Given the description of an element on the screen output the (x, y) to click on. 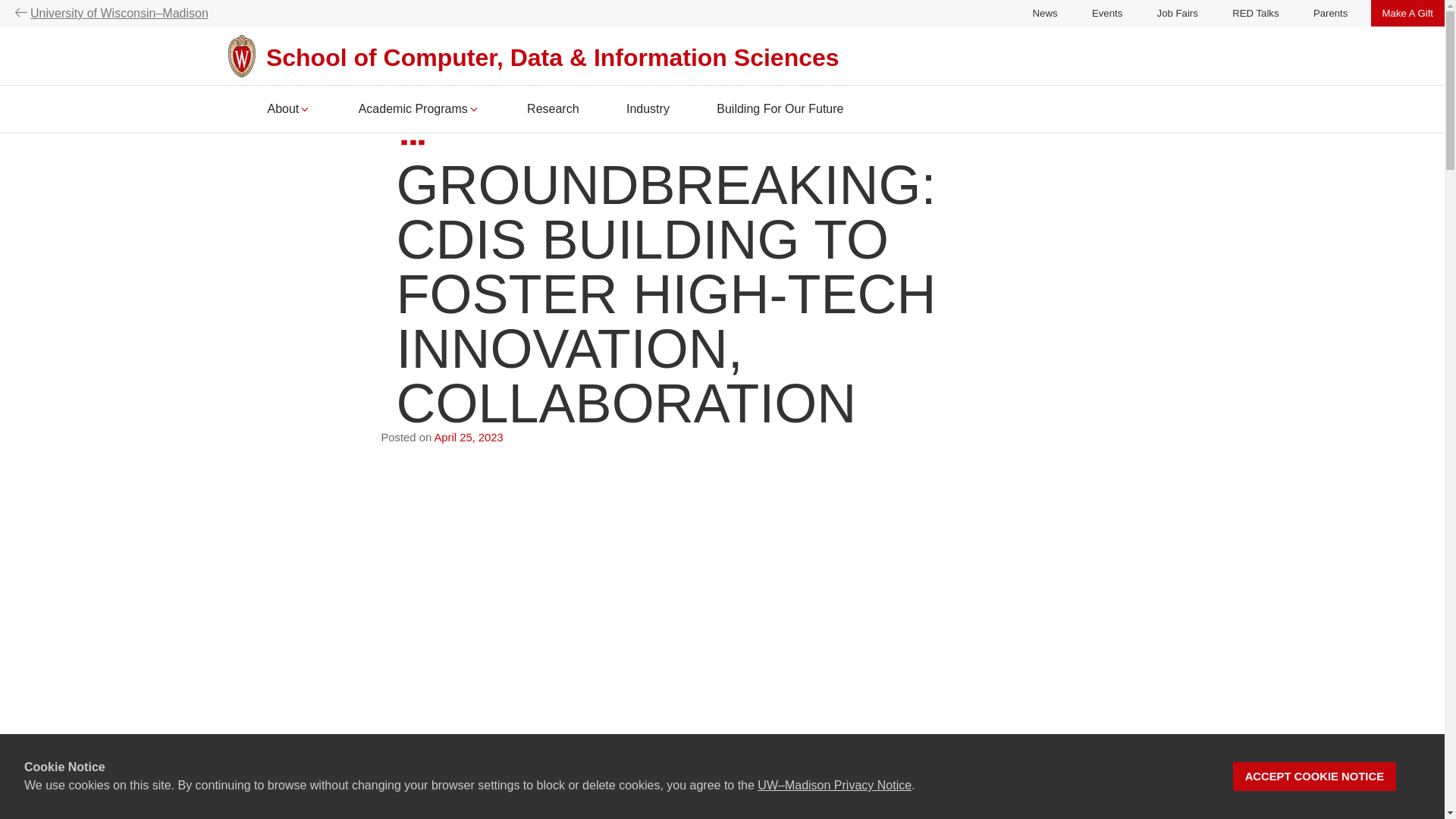
Job Fairs (1177, 13)
ACCEPT COOKIE NOTICE (1314, 776)
April 25, 2023 (467, 437)
Building For Our Future (779, 110)
Expand (473, 109)
Events (1107, 13)
Make A Gift (1406, 13)
Expand (304, 109)
Academic Programs Expand (419, 110)
Skip to main content (3, 136)
Parents (1330, 13)
Research (552, 110)
RED Talks (1254, 13)
News (1045, 13)
